Given the description of an element on the screen output the (x, y) to click on. 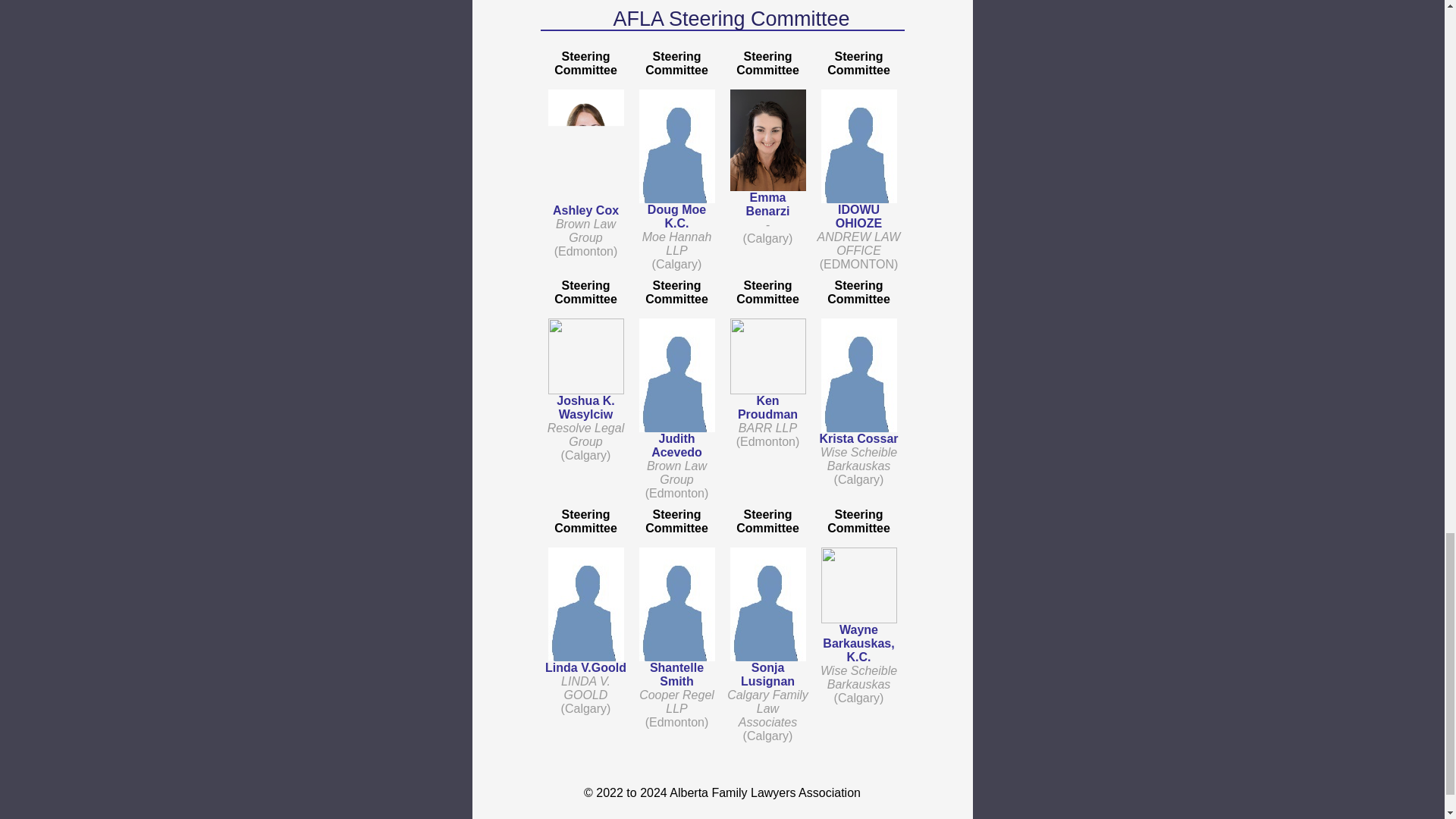
Linda V.Goold (585, 667)
Judith Acevedo (675, 445)
Krista Cossar (858, 438)
Sonja Lusignan (767, 673)
Ken Proudman (767, 406)
Ashley Cox (585, 210)
Joshua K. Wasylciw (585, 406)
Shantelle Smith (676, 673)
Doug Moe K.C. (676, 216)
IDOWU OHIOZE (858, 216)
